Given the description of an element on the screen output the (x, y) to click on. 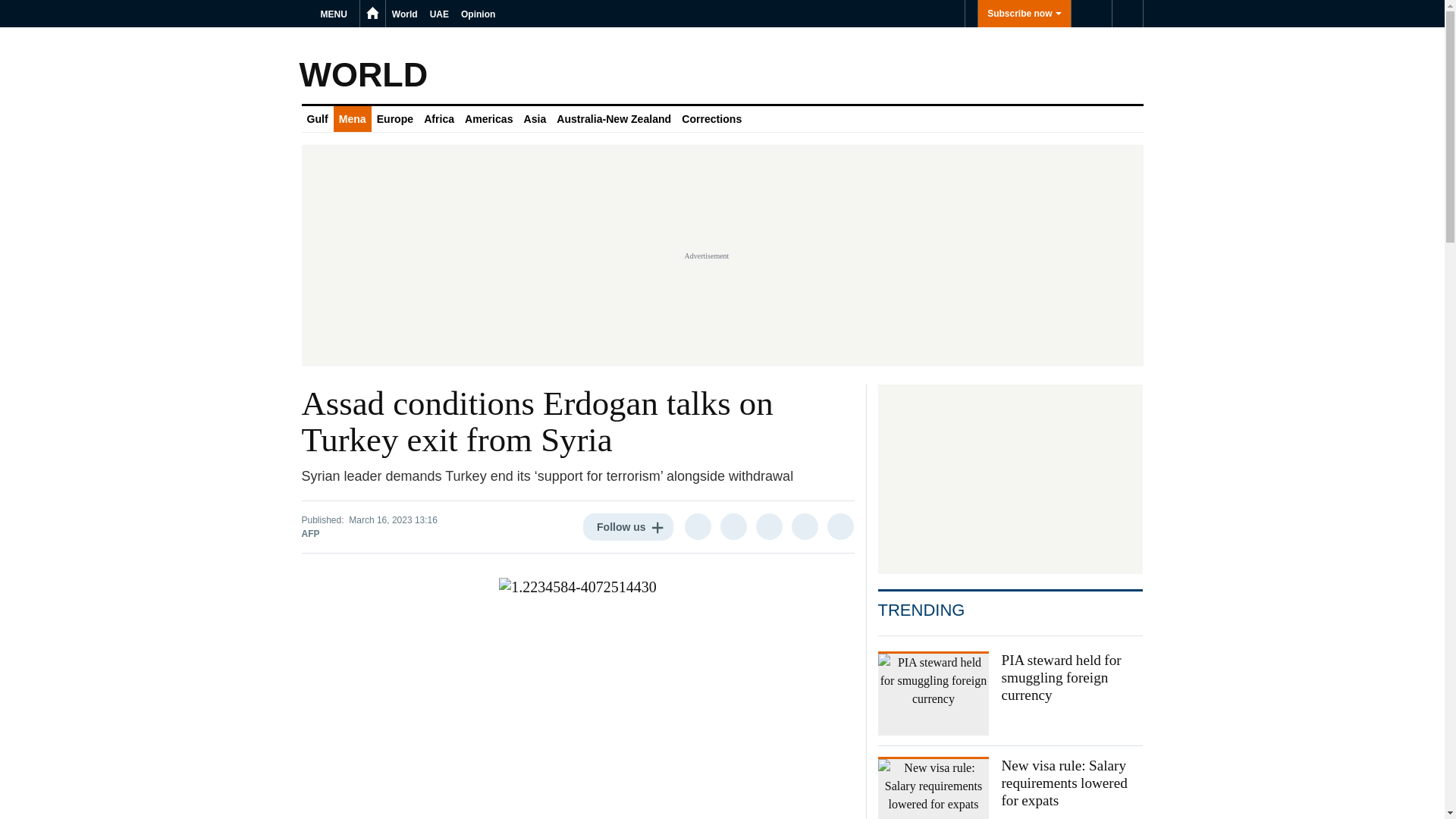
Opinion (477, 13)
World (404, 13)
UAE (438, 13)
Subscribe now (1024, 13)
MENU (336, 13)
